Given the description of an element on the screen output the (x, y) to click on. 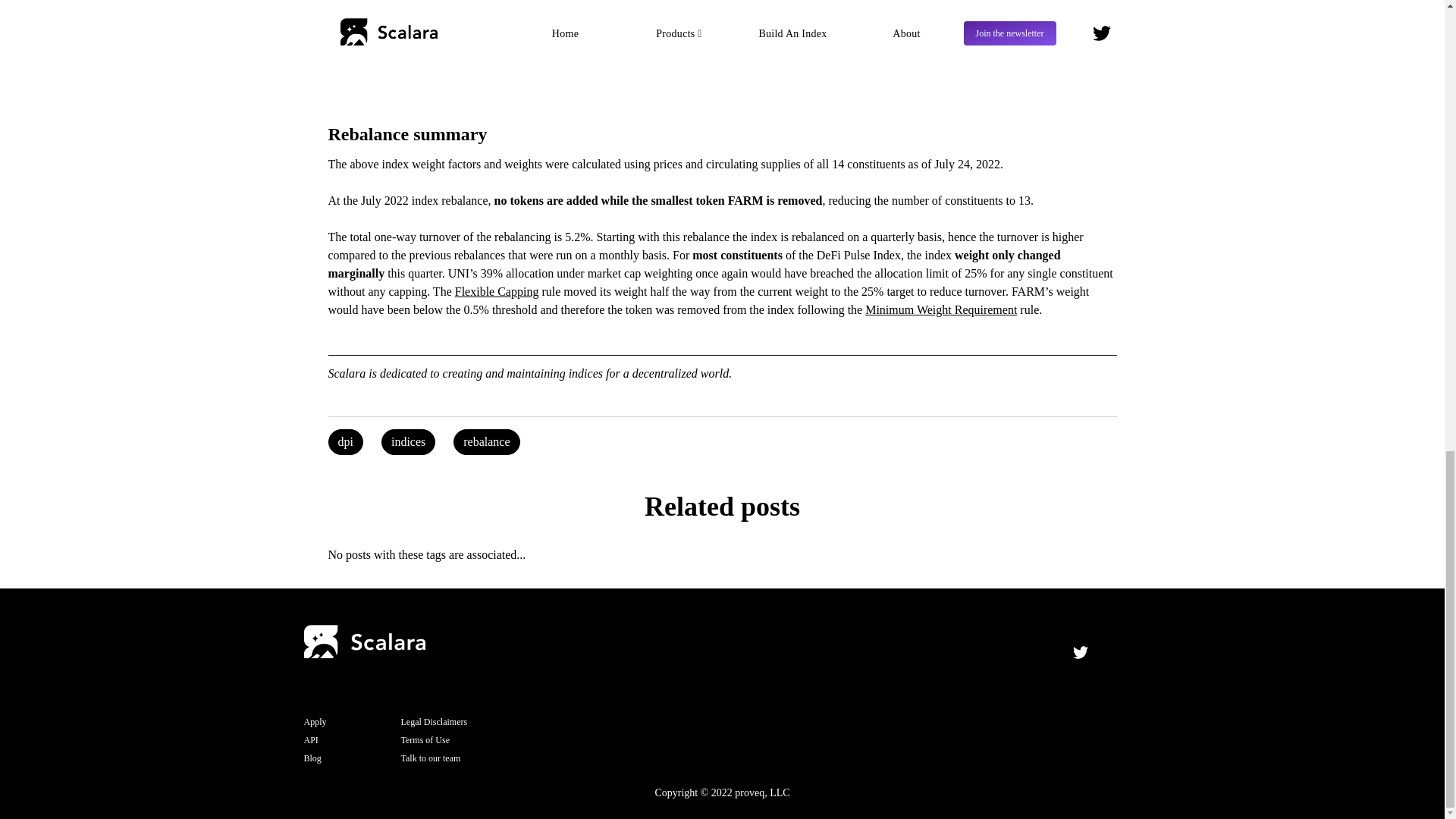
dpi (344, 442)
Blog (351, 758)
Minimum Weight Requirement (940, 309)
rebalance (485, 442)
indices (408, 442)
API (351, 740)
Apply (351, 721)
Flexible Capping (496, 291)
